Given the description of an element on the screen output the (x, y) to click on. 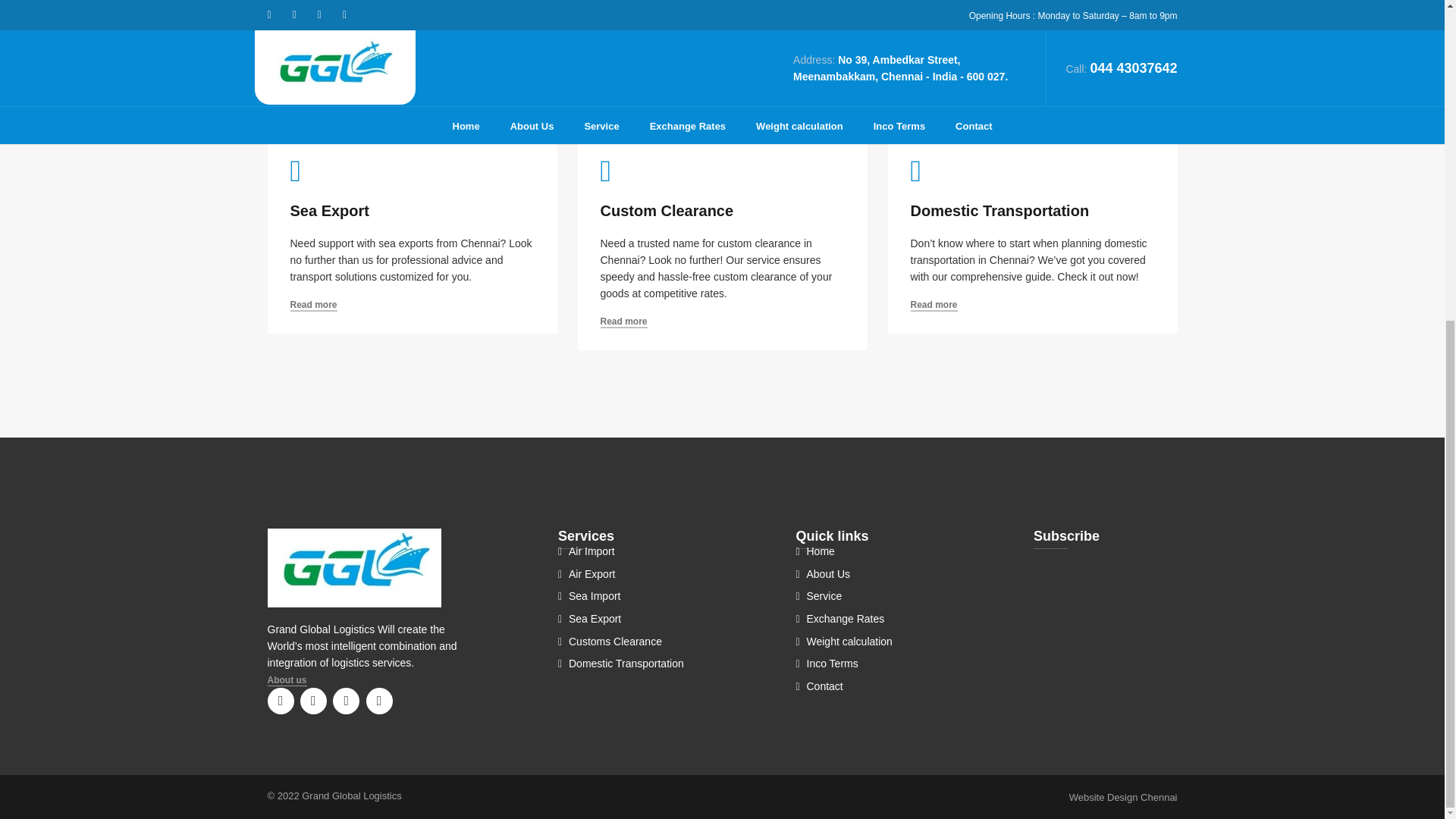
Read more (623, 90)
Read more (933, 305)
Customs Clearance (609, 641)
Title (379, 700)
Title (312, 700)
Read more (312, 305)
Air Import (585, 551)
Sea Import (588, 595)
Read more (933, 90)
Home (365, 567)
